Given the description of an element on the screen output the (x, y) to click on. 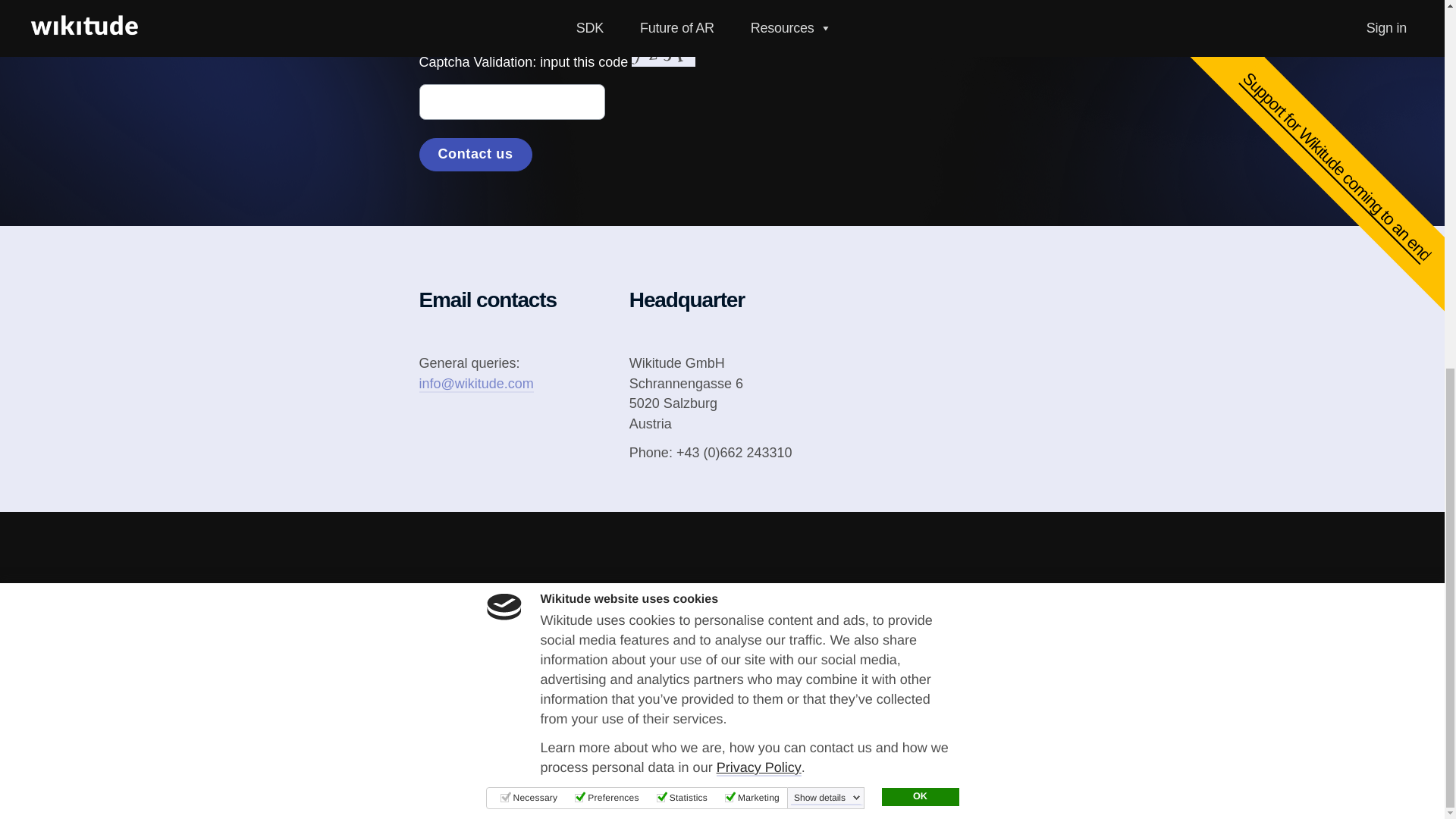
Privacy Policy (759, 102)
Contact us (475, 154)
OK (919, 131)
Show details (826, 132)
